Given the description of an element on the screen output the (x, y) to click on. 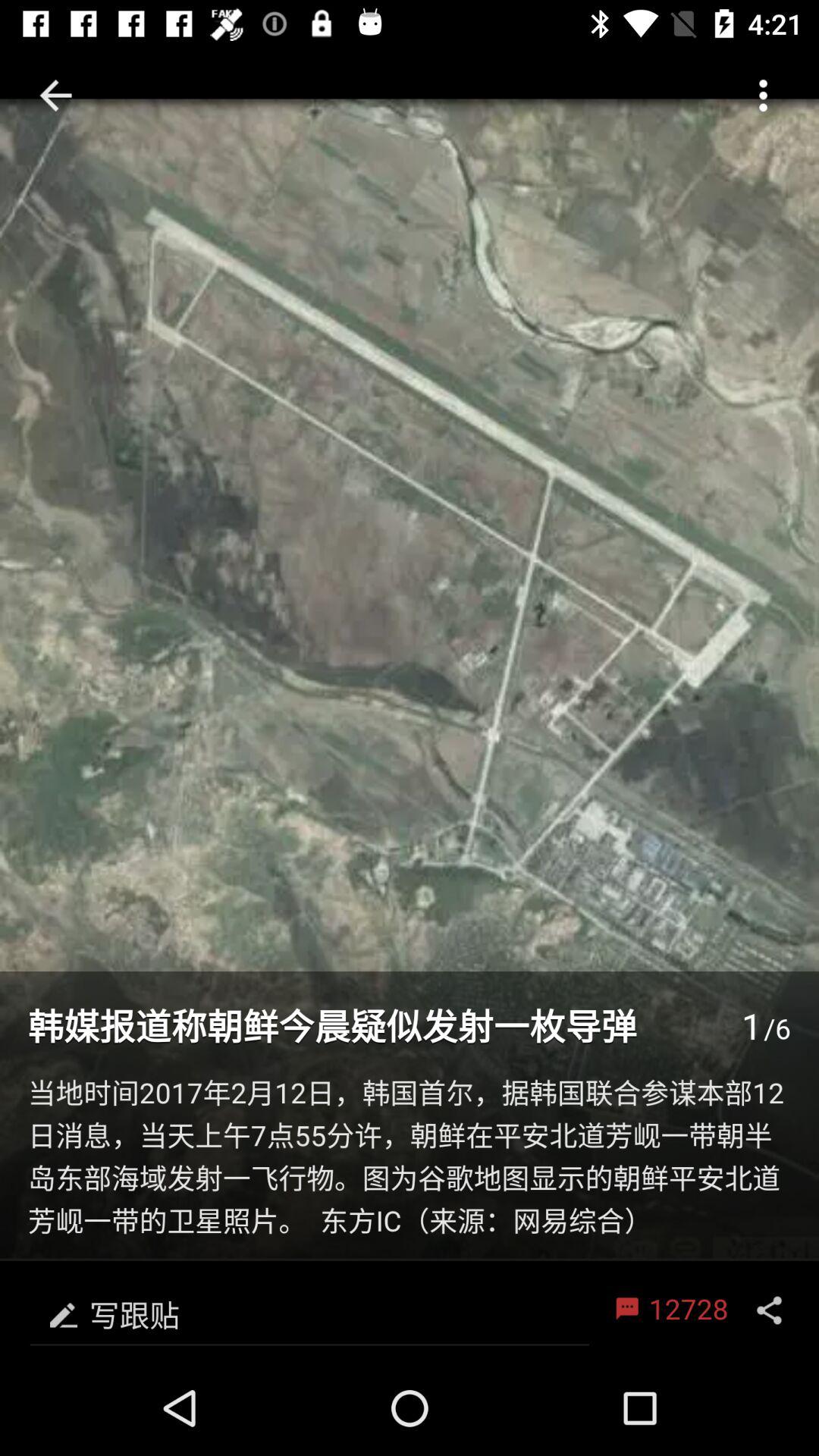
press item to the left of the 12728 (309, 1310)
